Given the description of an element on the screen output the (x, y) to click on. 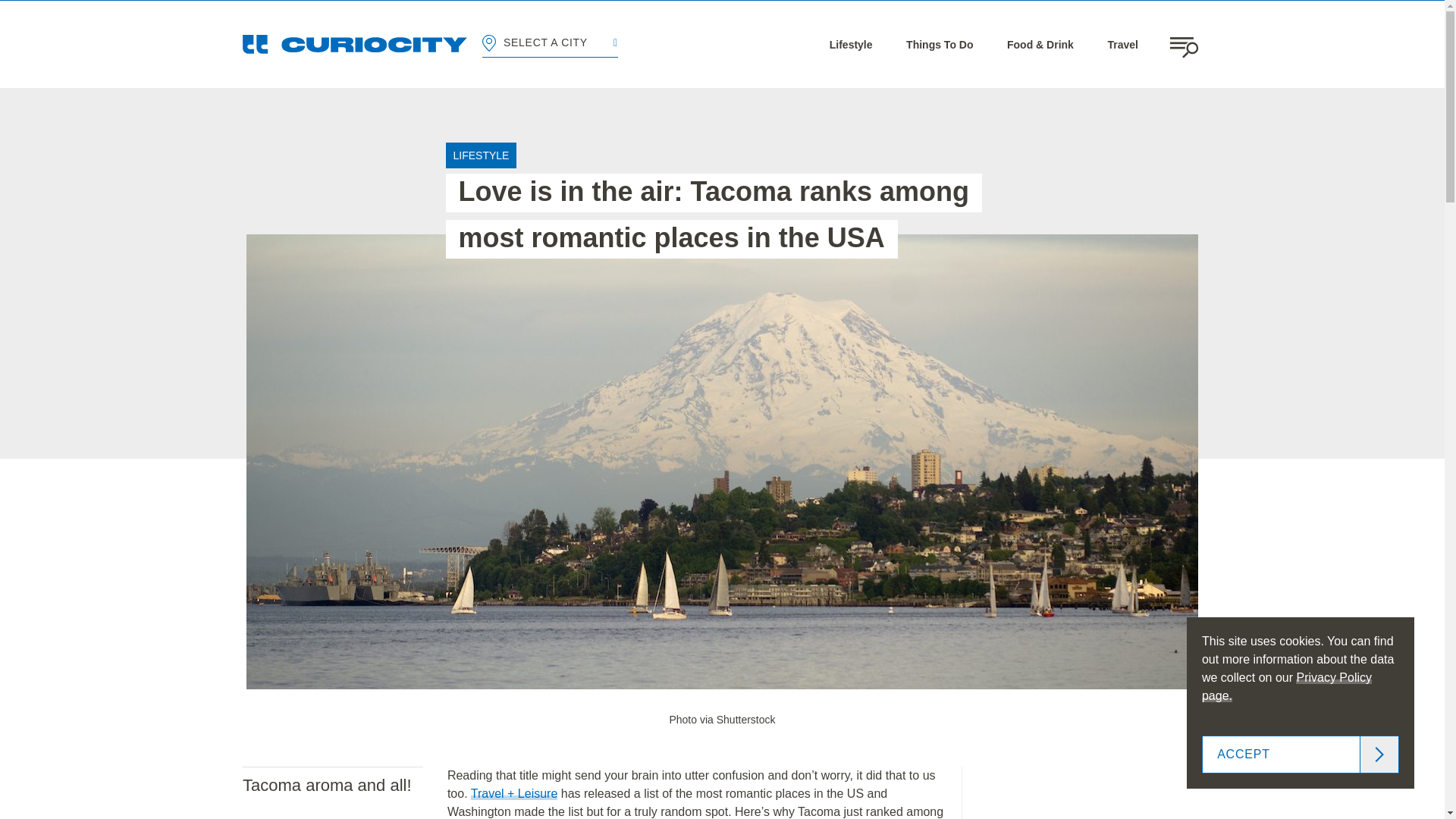
goes to Home (355, 43)
SELECT A CITY (549, 44)
Travel (1121, 44)
Things To Do (938, 44)
ACCEPT (1300, 754)
Lifestyle (850, 44)
Privacy Policy page. (1286, 685)
